Given the description of an element on the screen output the (x, y) to click on. 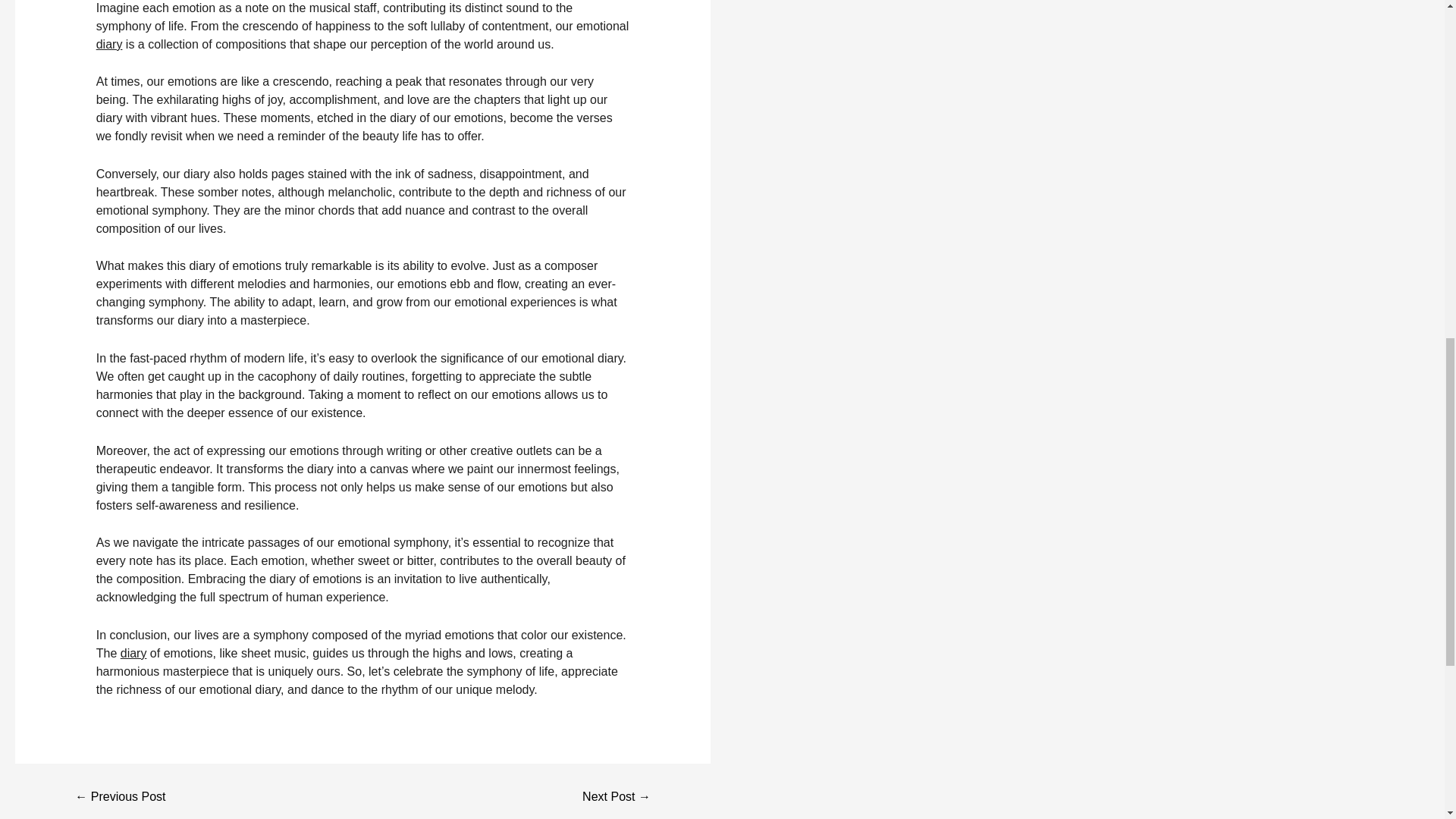
diary (109, 43)
diary (133, 653)
